Given the description of an element on the screen output the (x, y) to click on. 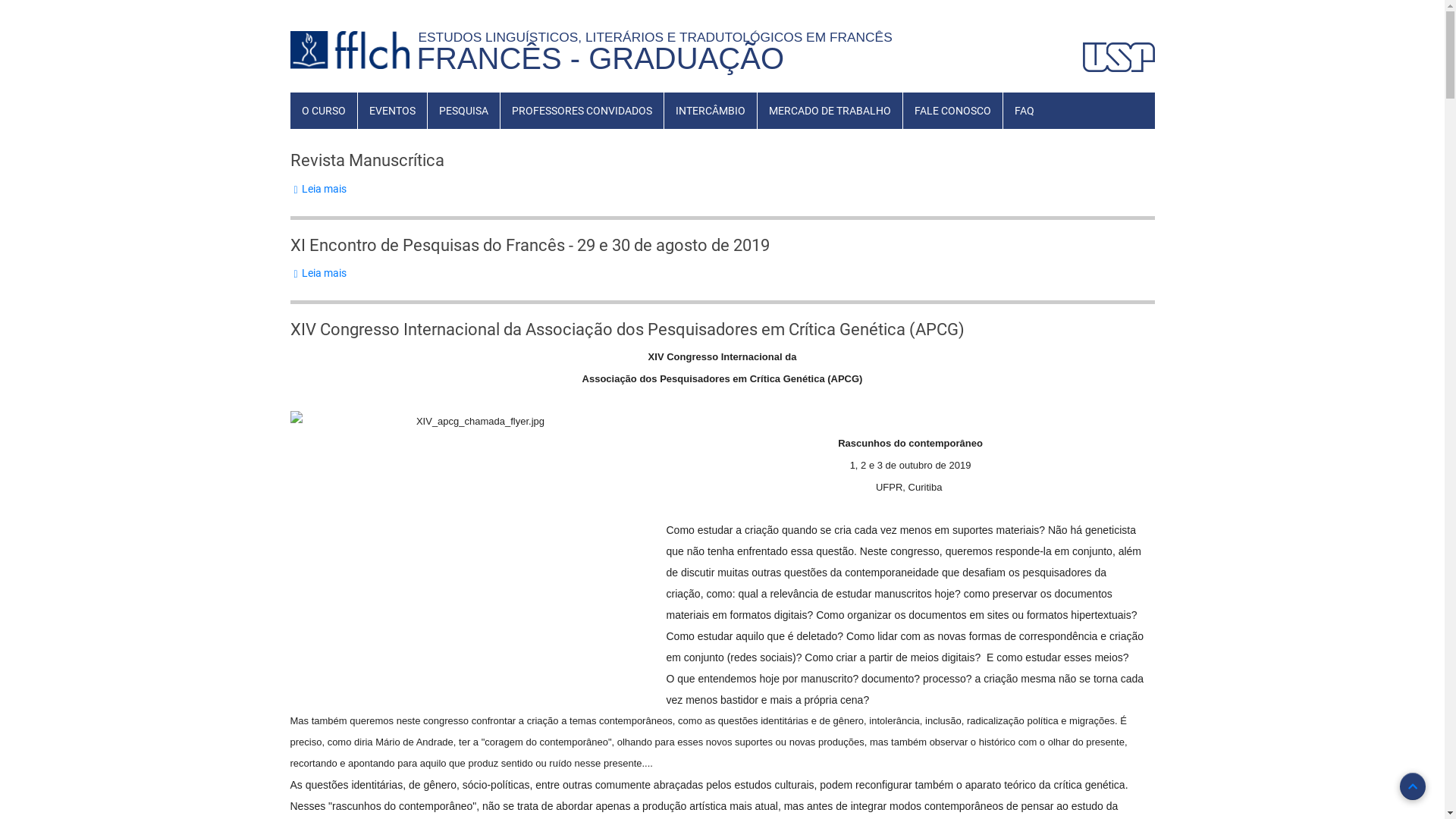
MERCADO DE TRABALHO Element type: text (828, 110)
FALE CONOSCO Element type: text (951, 110)
PESQUISA Element type: text (463, 110)
PROFESSORES CONVIDADOS Element type: text (581, 110)
O CURSO Element type: text (322, 110)
EVENTOS Element type: text (391, 110)
FAQ Element type: text (1023, 110)
Back to Top Element type: hover (1412, 786)
